Given the description of an element on the screen output the (x, y) to click on. 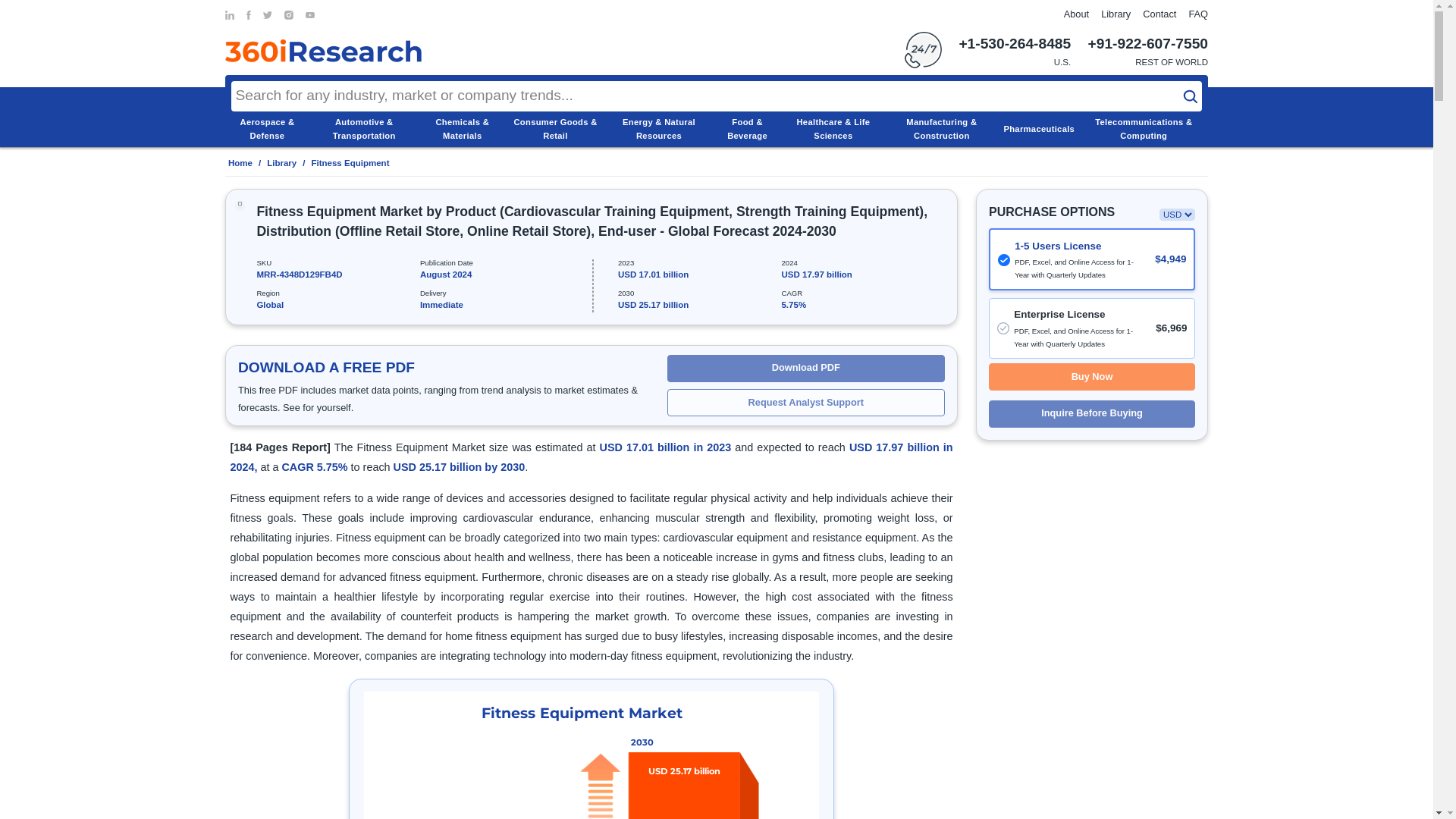
About (1076, 13)
Inquire Before Buying (1091, 413)
FAQ (1198, 13)
Pharmaceuticals (1038, 128)
360iResearch Linkedin (229, 14)
Library (1115, 13)
FAQ (1198, 13)
Fitness Equipment Market (591, 755)
360iResearch.com (323, 50)
Buy Now (1091, 376)
